Given the description of an element on the screen output the (x, y) to click on. 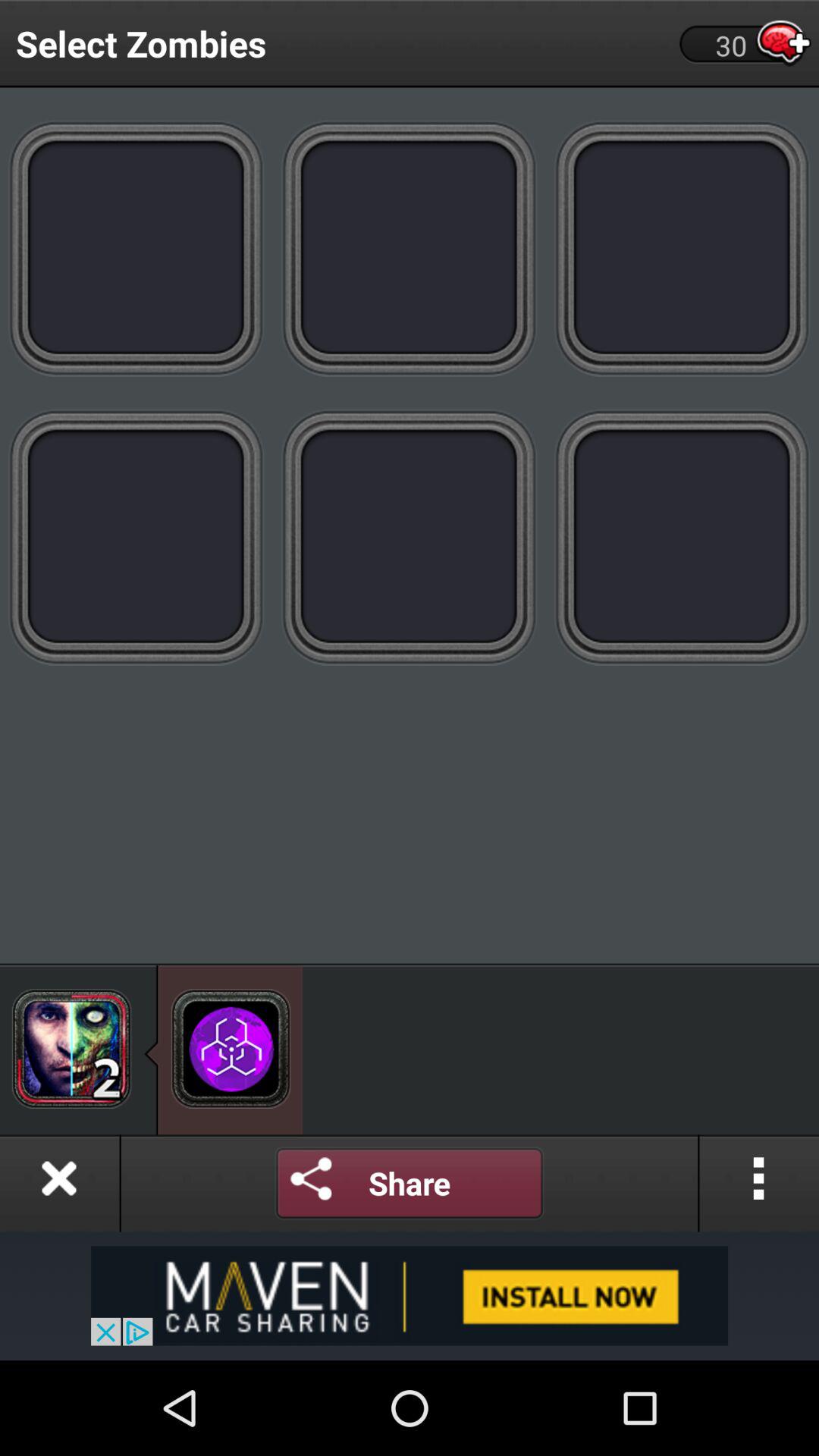
close (59, 1182)
